Given the description of an element on the screen output the (x, y) to click on. 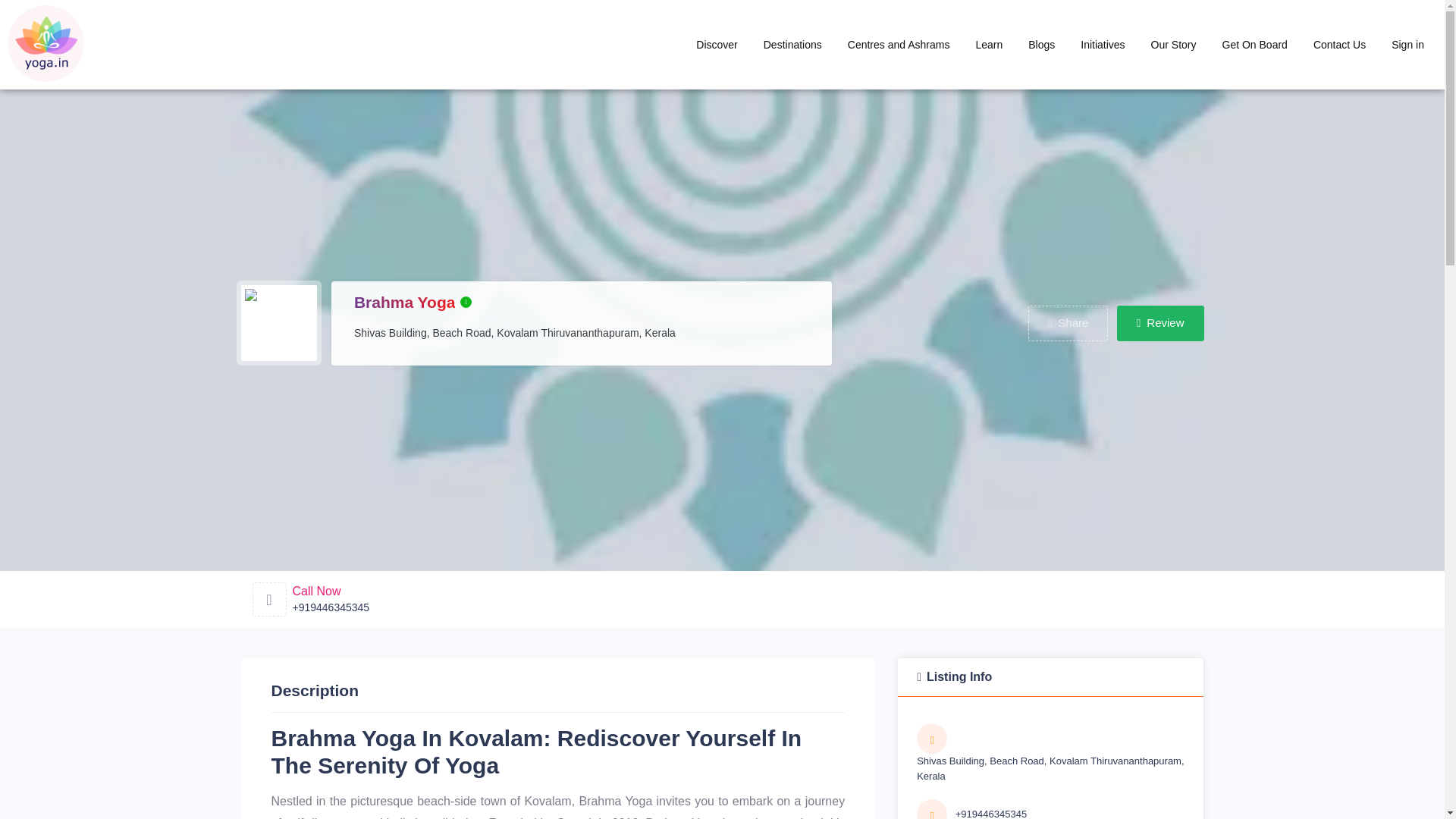
Home (898, 44)
Destinations (792, 44)
Our Story (1173, 44)
Blogs (1040, 44)
Discover (715, 44)
Initiatives (1102, 44)
Contact Us (1339, 44)
Share (1067, 323)
Blogs (1040, 44)
